Given the description of an element on the screen output the (x, y) to click on. 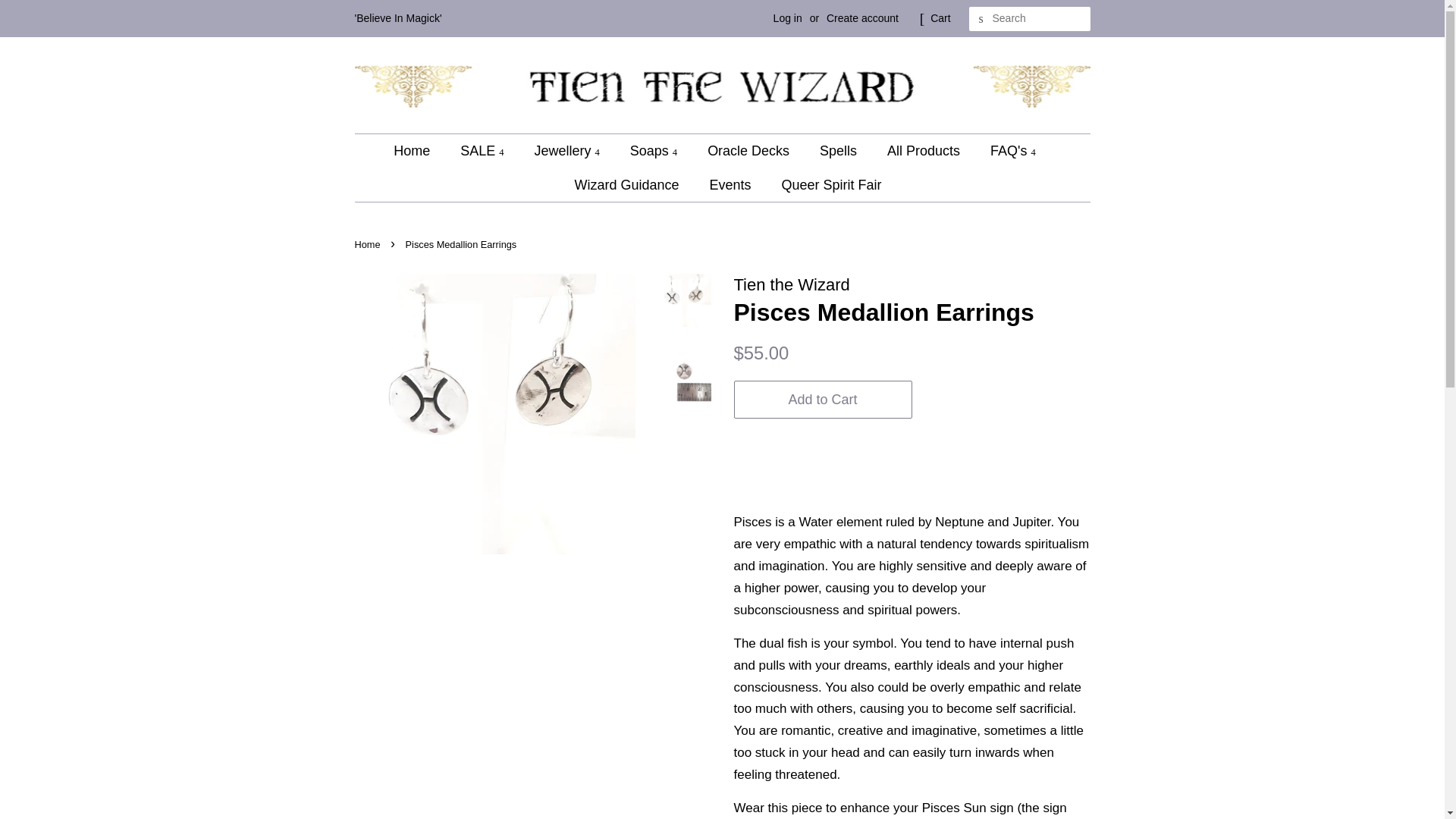
Cart (940, 18)
Search (980, 18)
Create account (862, 18)
Log in (787, 18)
Back to the frontpage (369, 244)
